Given the description of an element on the screen output the (x, y) to click on. 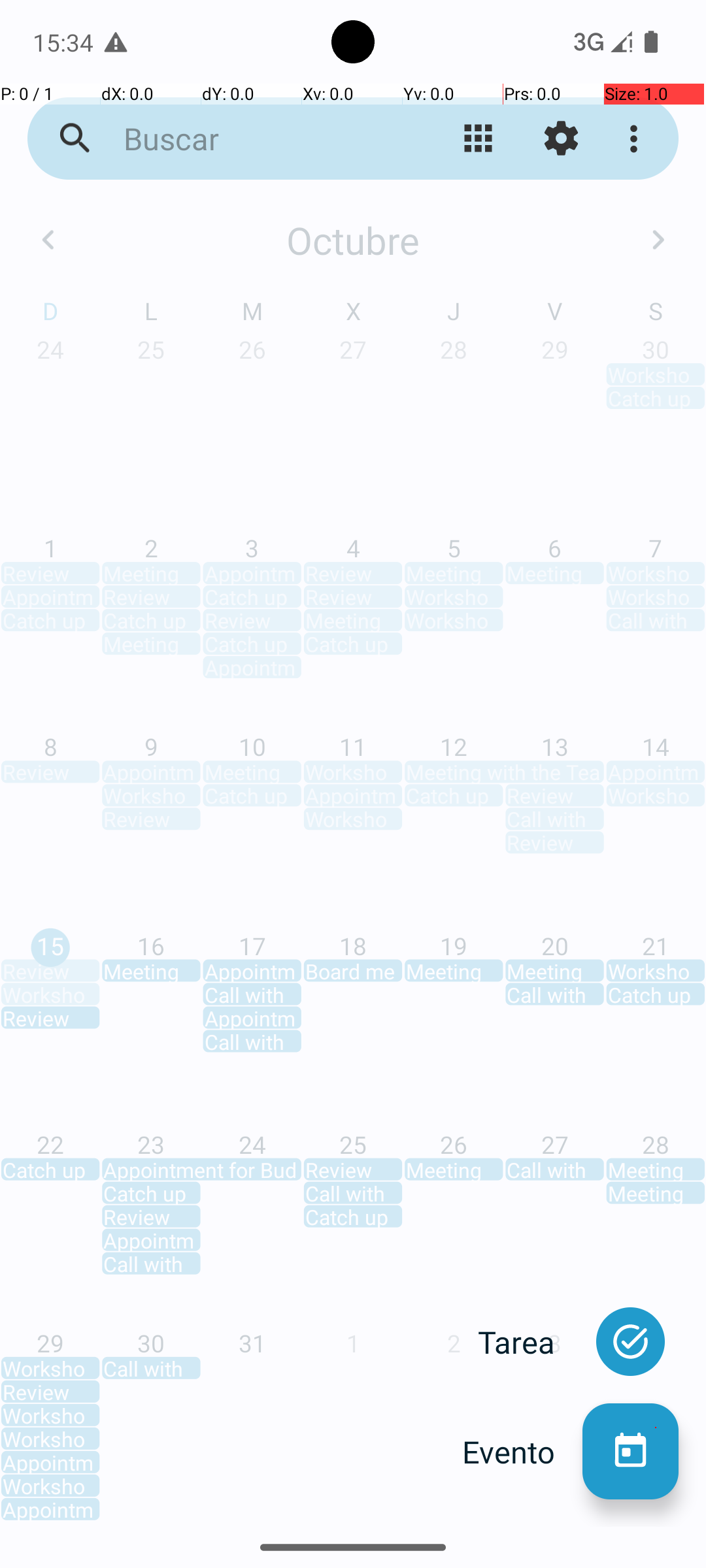
Tarea Element type: android.widget.TextView (529, 1341)
Evento Element type: android.widget.TextView (522, 1451)
